Given the description of an element on the screen output the (x, y) to click on. 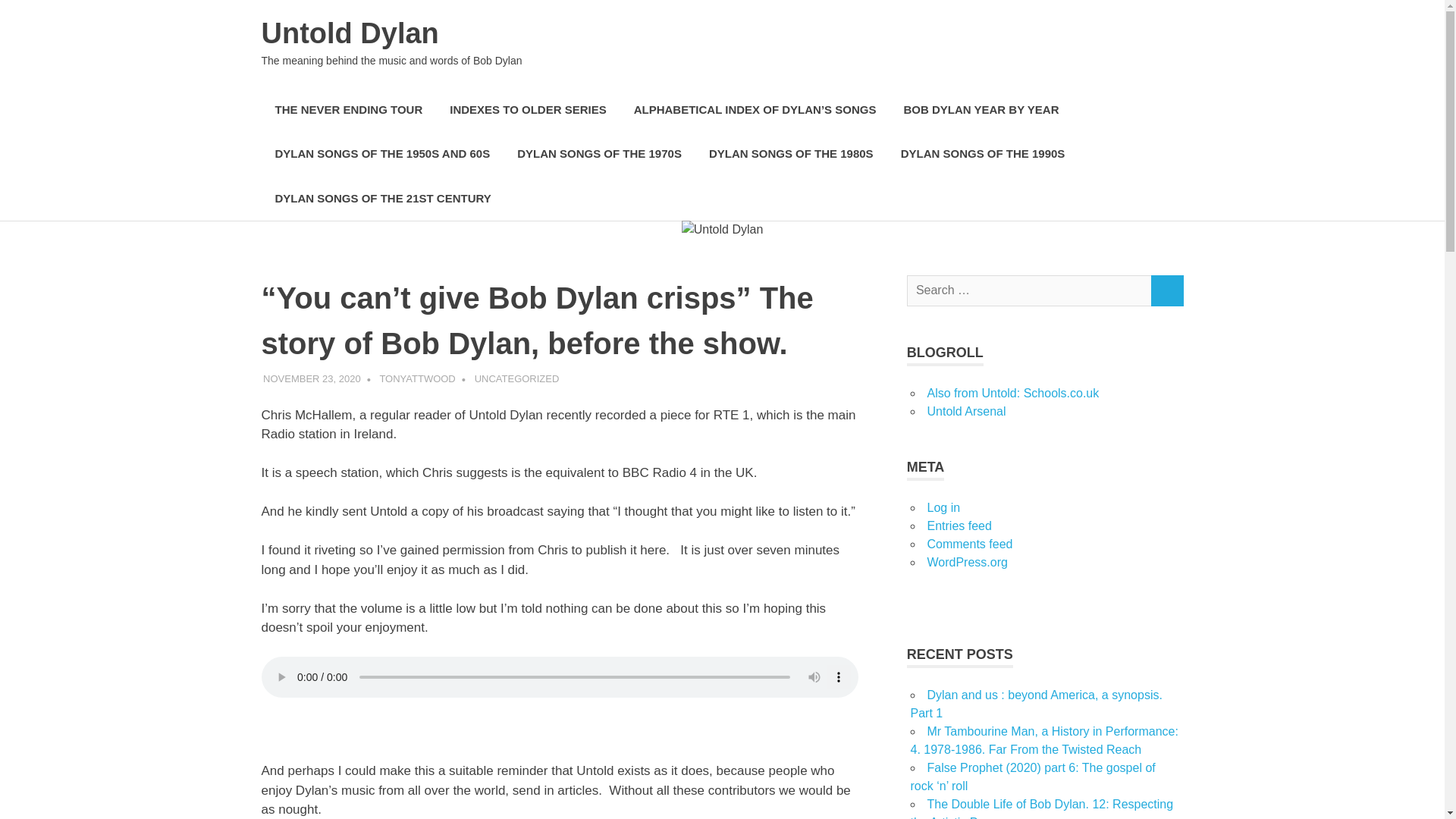
Also from Untold: Schools.co.uk (1012, 392)
Search for: (1029, 290)
BOB DYLAN YEAR BY YEAR (980, 109)
DYLAN SONGS OF THE 1950S AND 60S (381, 153)
Entries feed (958, 525)
Log in (942, 507)
TONYATTWOOD (416, 378)
UNCATEGORIZED (516, 378)
View all posts by TonyAttwood (416, 378)
